Given the description of an element on the screen output the (x, y) to click on. 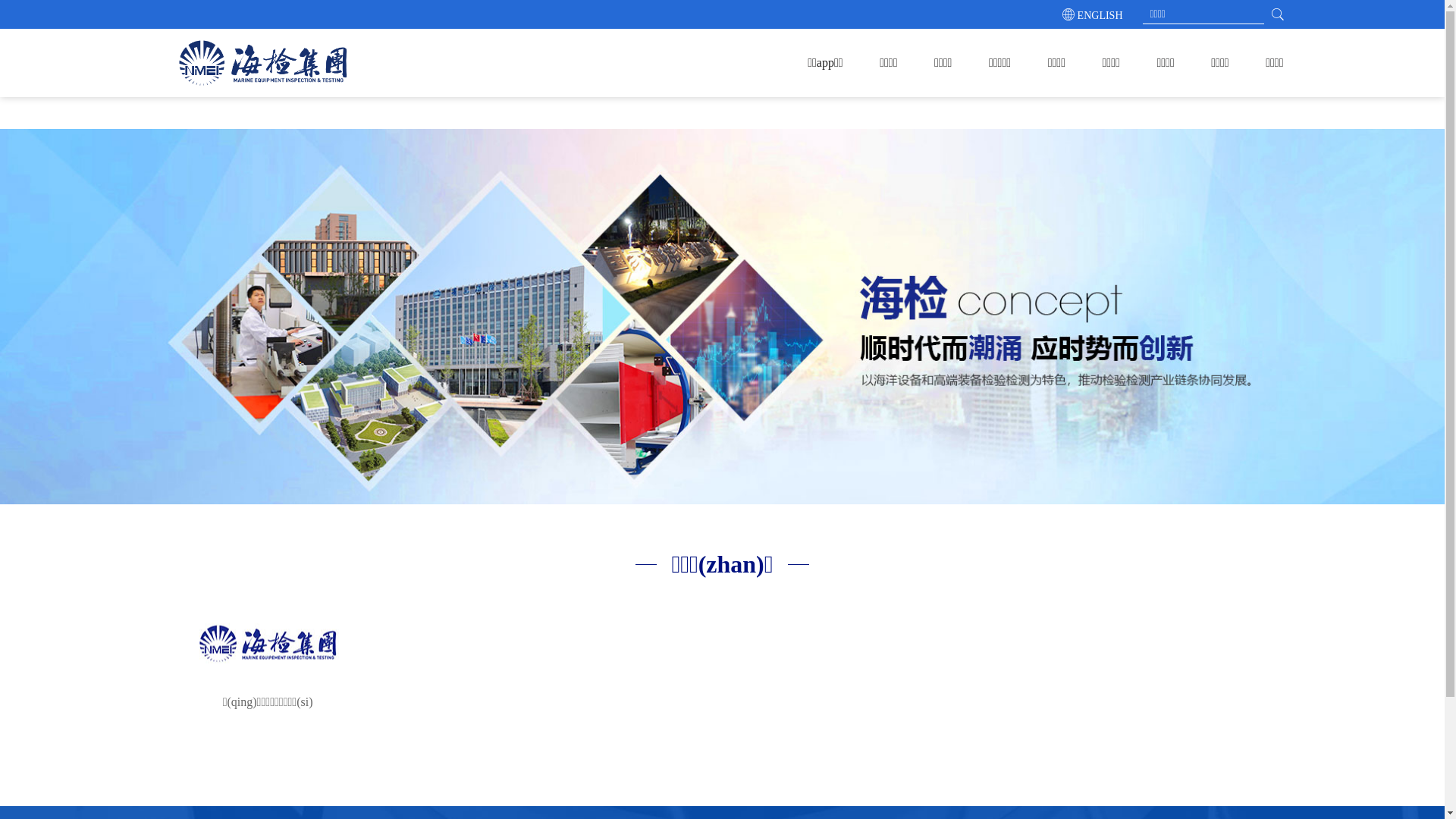
ENGLISH Element type: text (1100, 14)
